Given the description of an element on the screen output the (x, y) to click on. 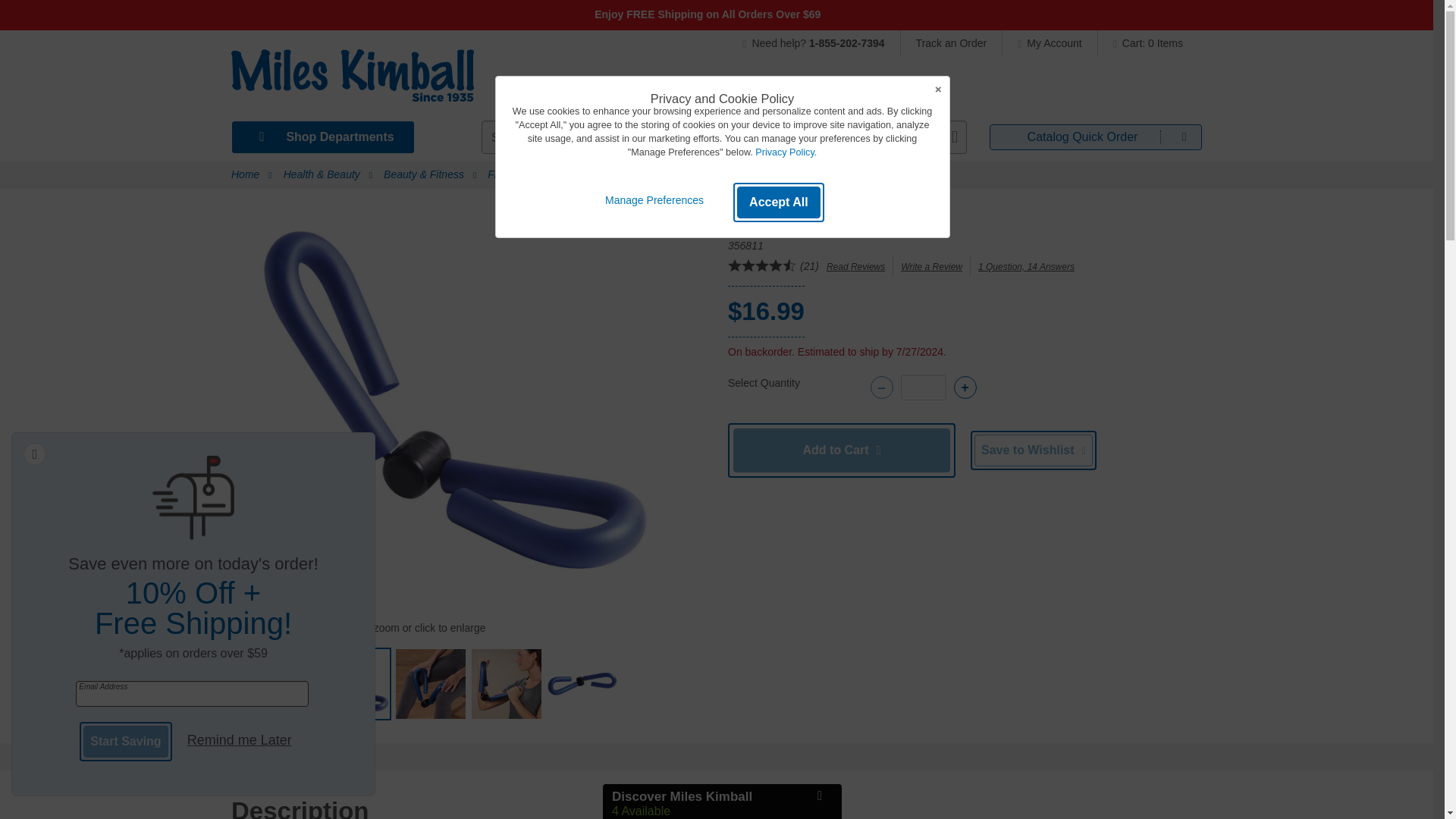
Need help? 1-855-202-7394 (820, 43)
Increase (964, 386)
Decrease (881, 386)
Track an Order (952, 43)
Homepage Link (351, 81)
Review Count: 21 (808, 265)
Cart: 0 Items (1144, 43)
Item Quantity: 1 (923, 387)
Shop Departments  (322, 137)
My Account (1050, 43)
Star Rating: 4.7 (762, 267)
